Given the description of an element on the screen output the (x, y) to click on. 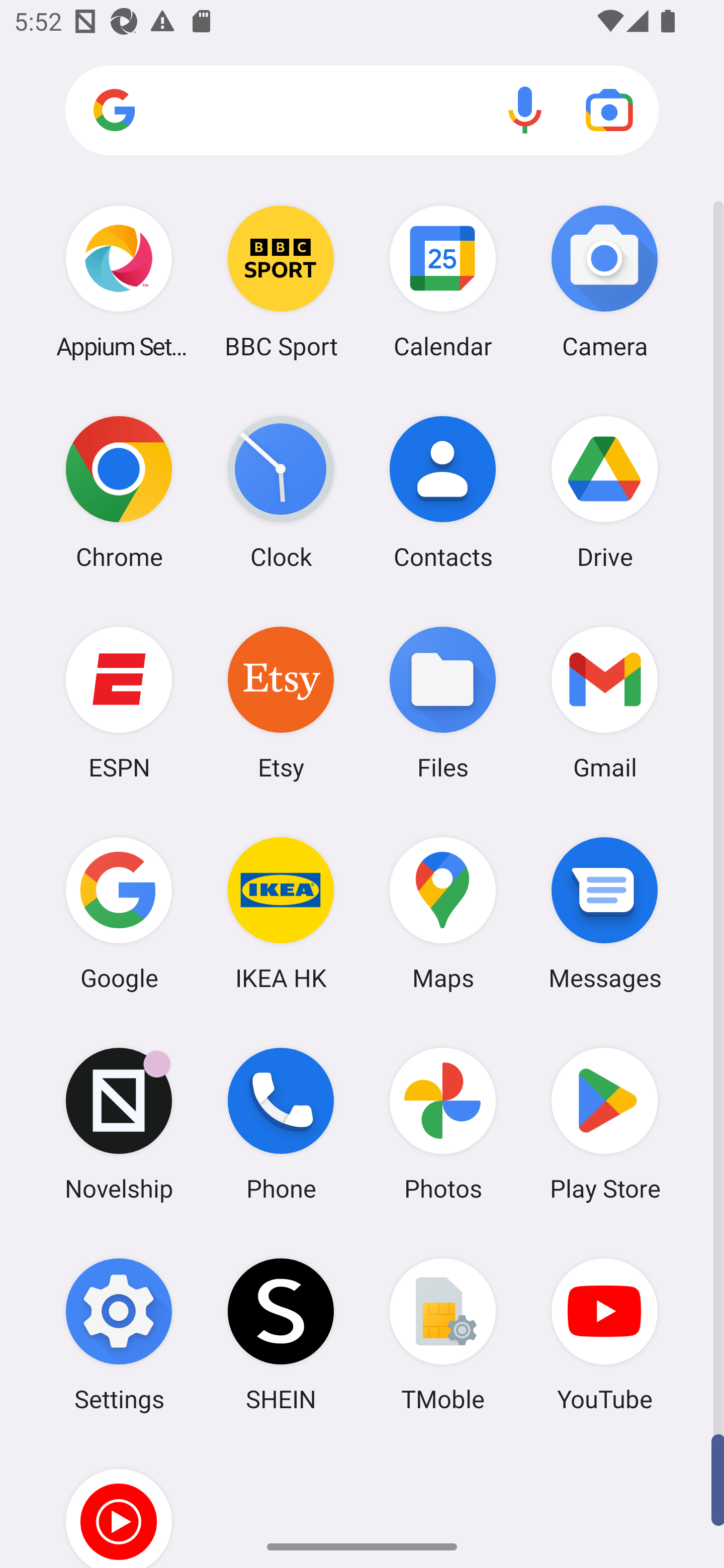
Search apps, web and more (361, 110)
Voice search (524, 109)
Google Lens (608, 109)
Appium Settings (118, 281)
BBC Sport (280, 281)
Calendar (443, 281)
Camera (604, 281)
Chrome (118, 492)
Clock (280, 492)
Contacts (443, 492)
Drive (604, 492)
ESPN (118, 702)
Etsy (280, 702)
Files (443, 702)
Gmail (604, 702)
Google (118, 913)
IKEA HK (280, 913)
Maps (443, 913)
Messages (604, 913)
Novelship Novelship has 2 notifications (118, 1124)
Phone (280, 1124)
Photos (443, 1124)
Play Store (604, 1124)
Settings (118, 1334)
SHEIN (280, 1334)
TMoble (443, 1334)
YouTube (604, 1334)
YT Music (118, 1503)
